Given the description of an element on the screen output the (x, y) to click on. 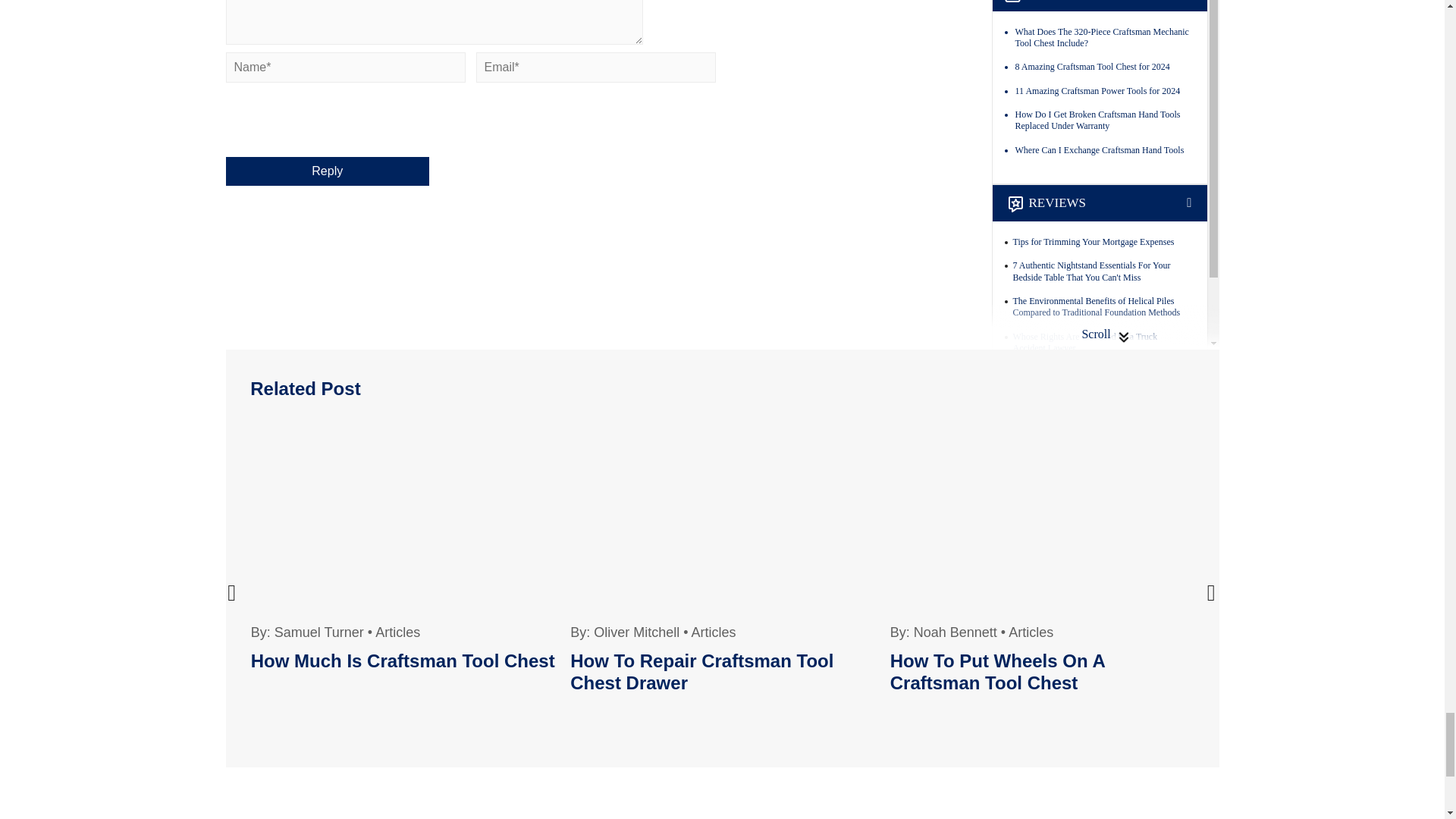
Reply (327, 171)
